Given the description of an element on the screen output the (x, y) to click on. 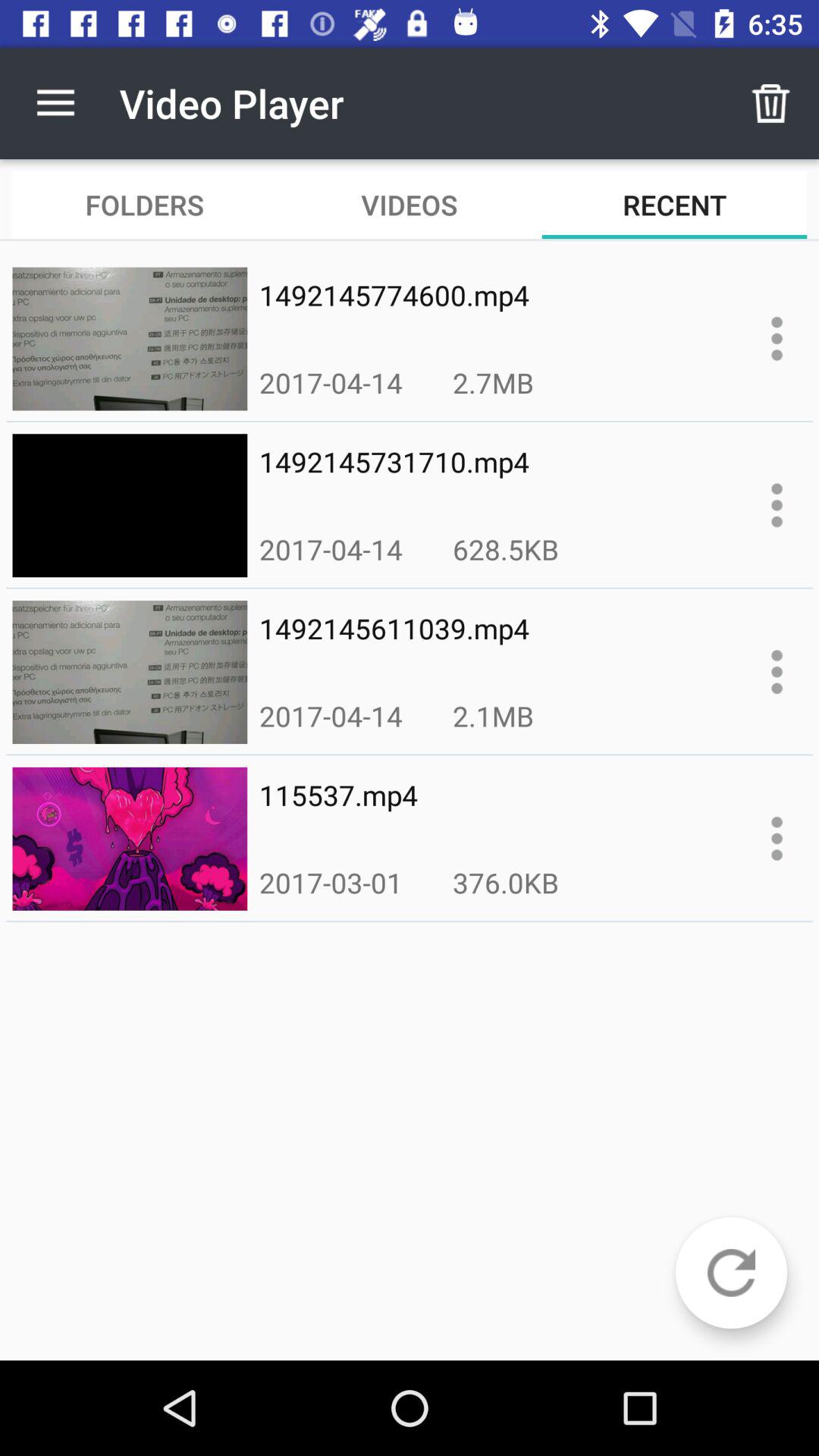
click the icon at the bottom right corner (731, 1272)
